Given the description of an element on the screen output the (x, y) to click on. 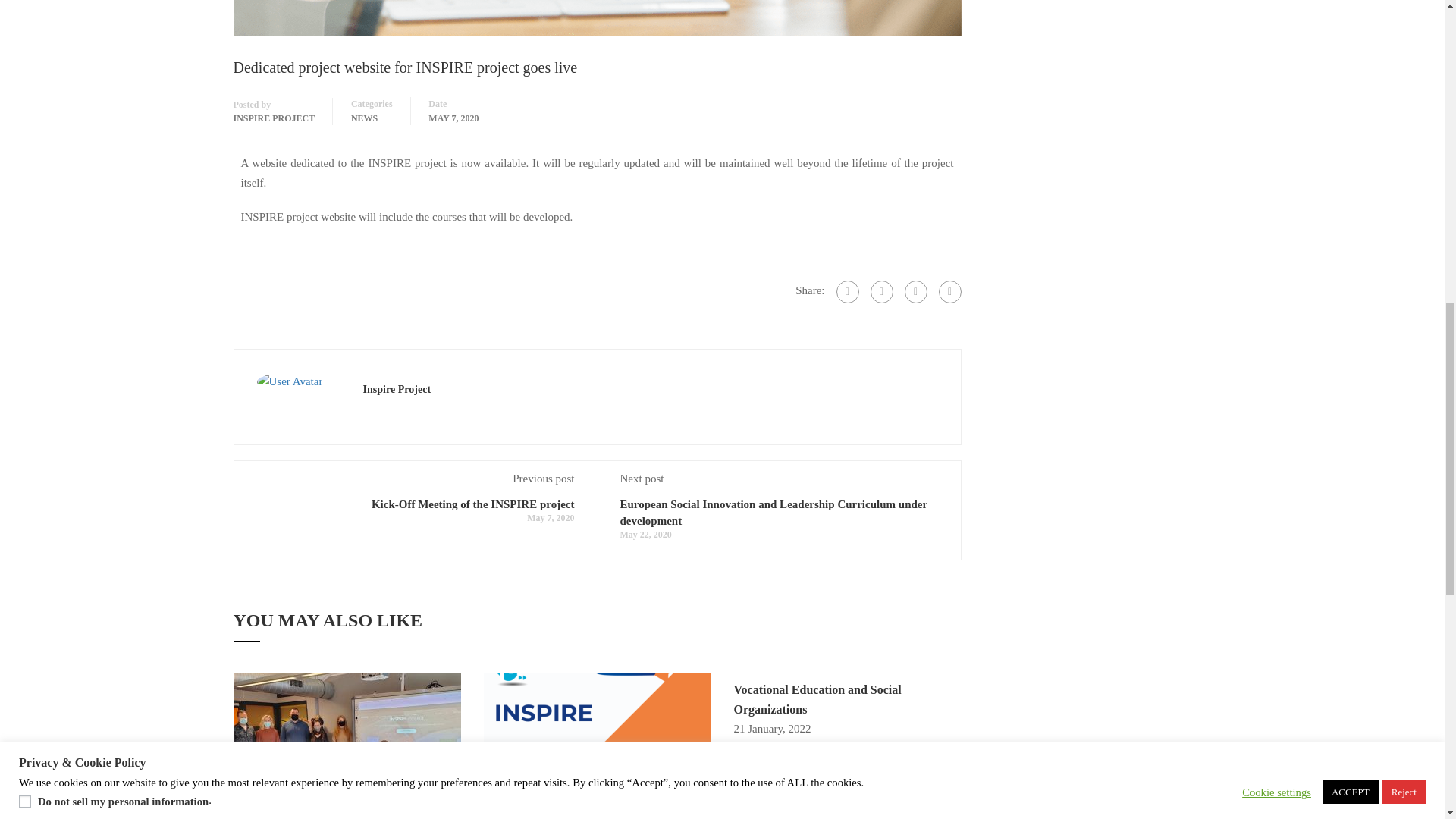
Facebook (847, 291)
Final Transnational Meeting (597, 747)
An Inspired journey (346, 747)
Twitter (915, 291)
71721473-61d4-4dc0-8931-467b66309954 (346, 745)
Pinterest (949, 291)
Google Plus (881, 291)
Vocational Education and Social Organizations (817, 699)
